Given the description of an element on the screen output the (x, y) to click on. 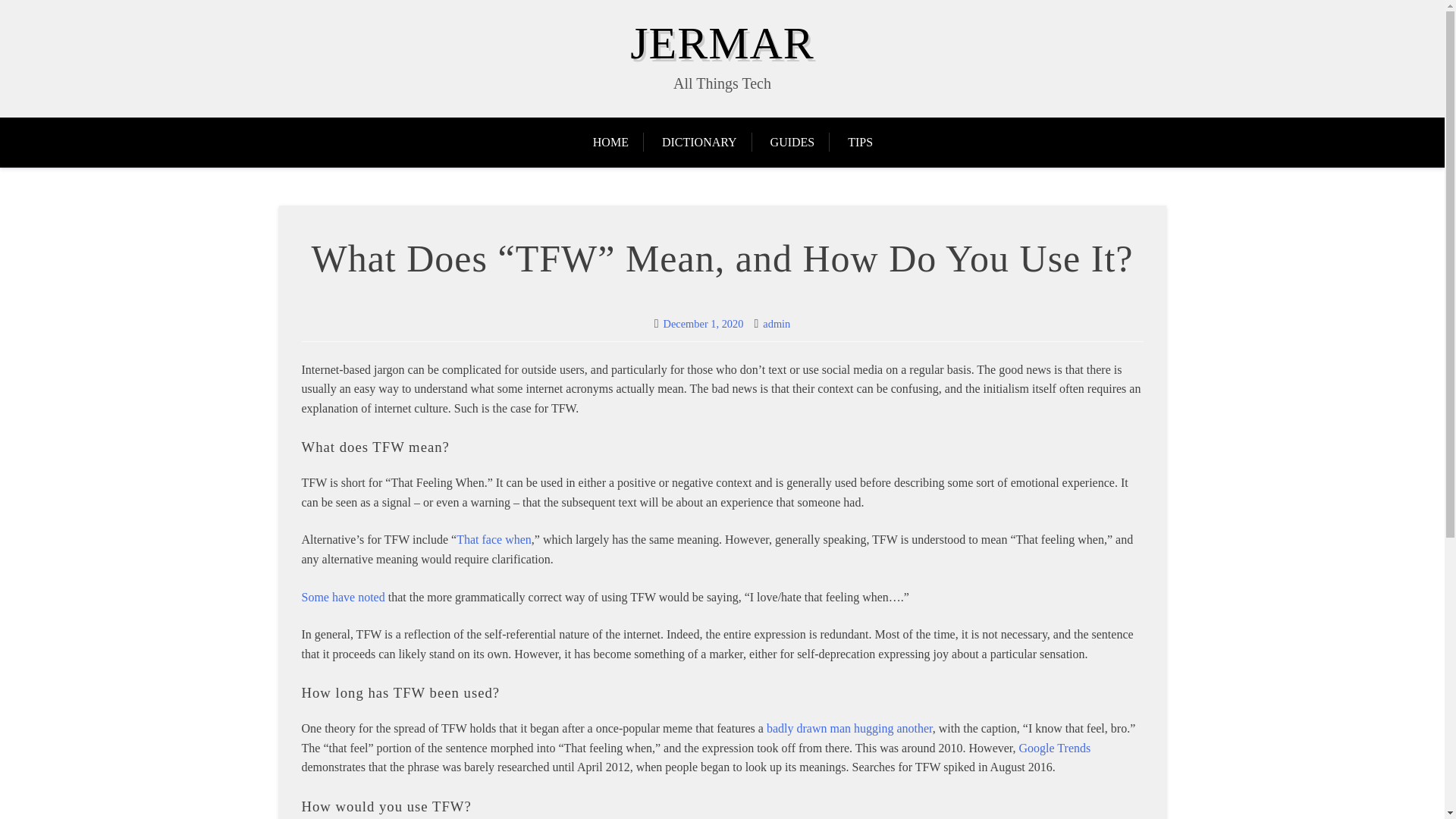
Google Trends (1054, 748)
GUIDES (792, 142)
That face when (494, 539)
badly drawn man hugging another (850, 727)
admin (776, 323)
Some have noted (343, 595)
DICTIONARY (699, 142)
December 1, 2020 (703, 323)
JERMAR (721, 42)
TIPS (860, 142)
